Given the description of an element on the screen output the (x, y) to click on. 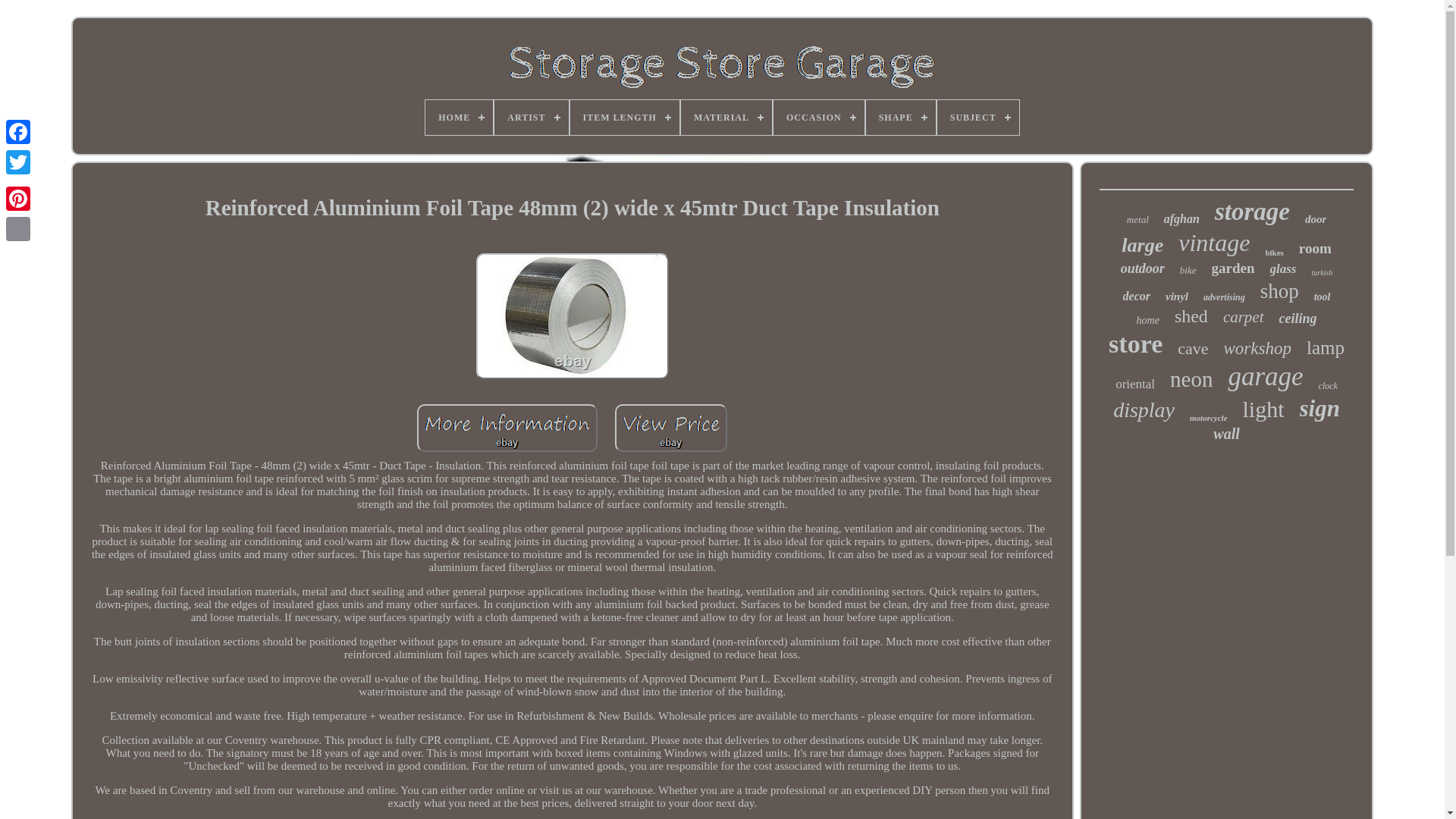
HOME (459, 117)
ITEM LENGTH (624, 117)
ARTIST (531, 117)
